Given the description of an element on the screen output the (x, y) to click on. 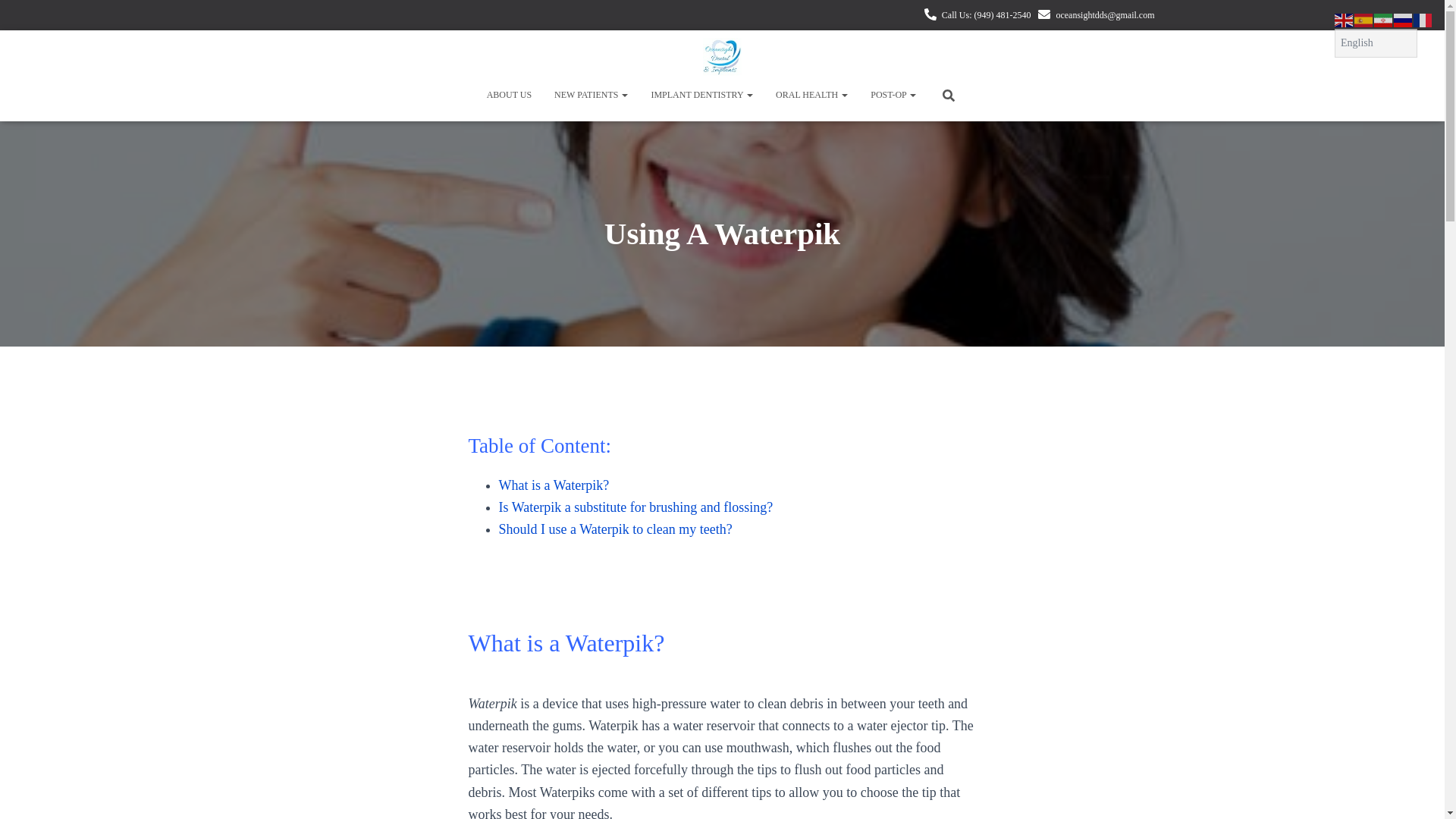
NEW PATIENTS (591, 94)
New Patients (591, 94)
About US (509, 94)
IMPLANT DENTISTRY (701, 94)
Implant Dentistry (701, 94)
ABOUT US (509, 94)
ORAL HEALTH (811, 94)
POST-OP (893, 94)
